Given the description of an element on the screen output the (x, y) to click on. 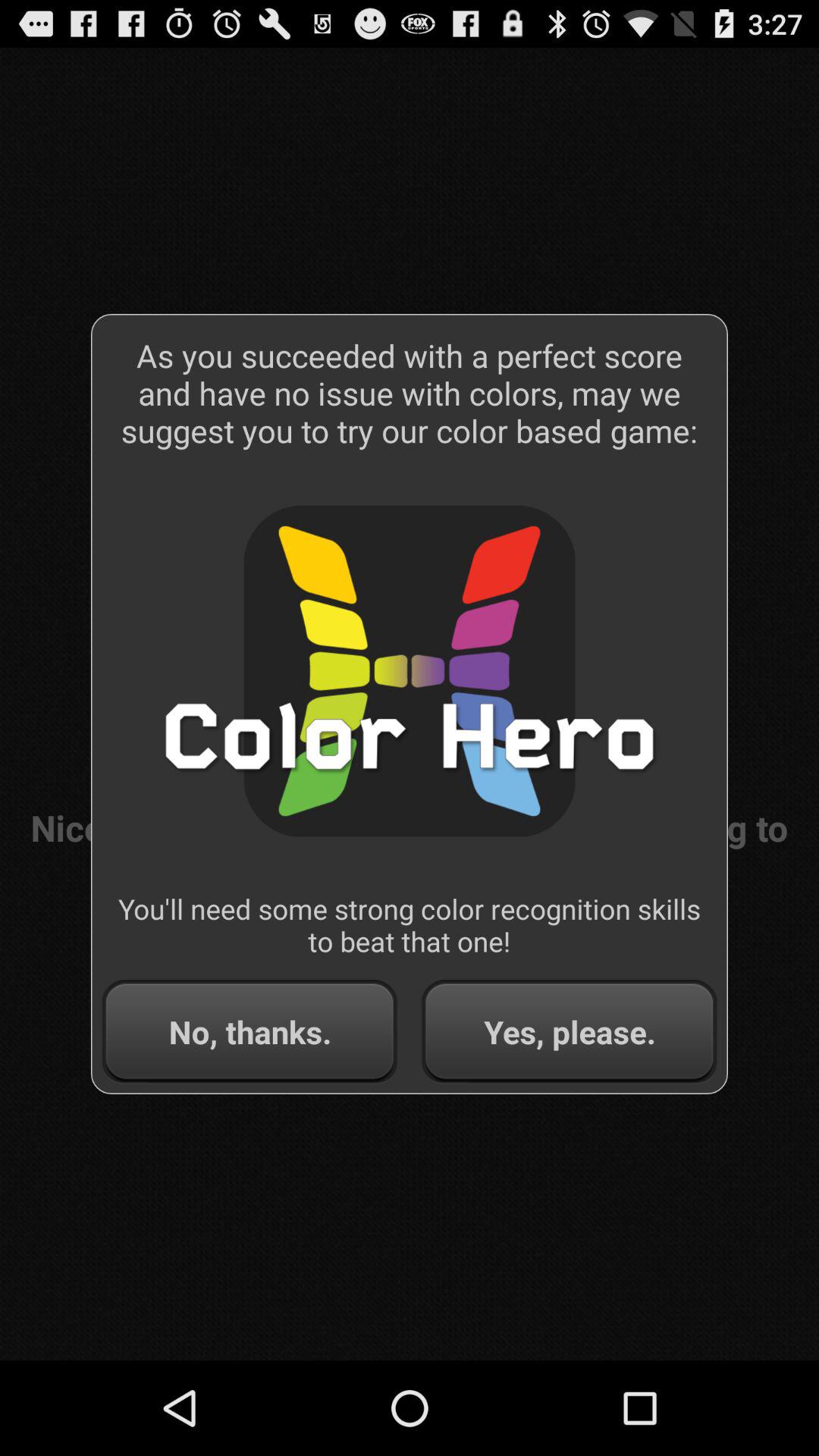
launch app below the you ll need item (568, 1031)
